Given the description of an element on the screen output the (x, y) to click on. 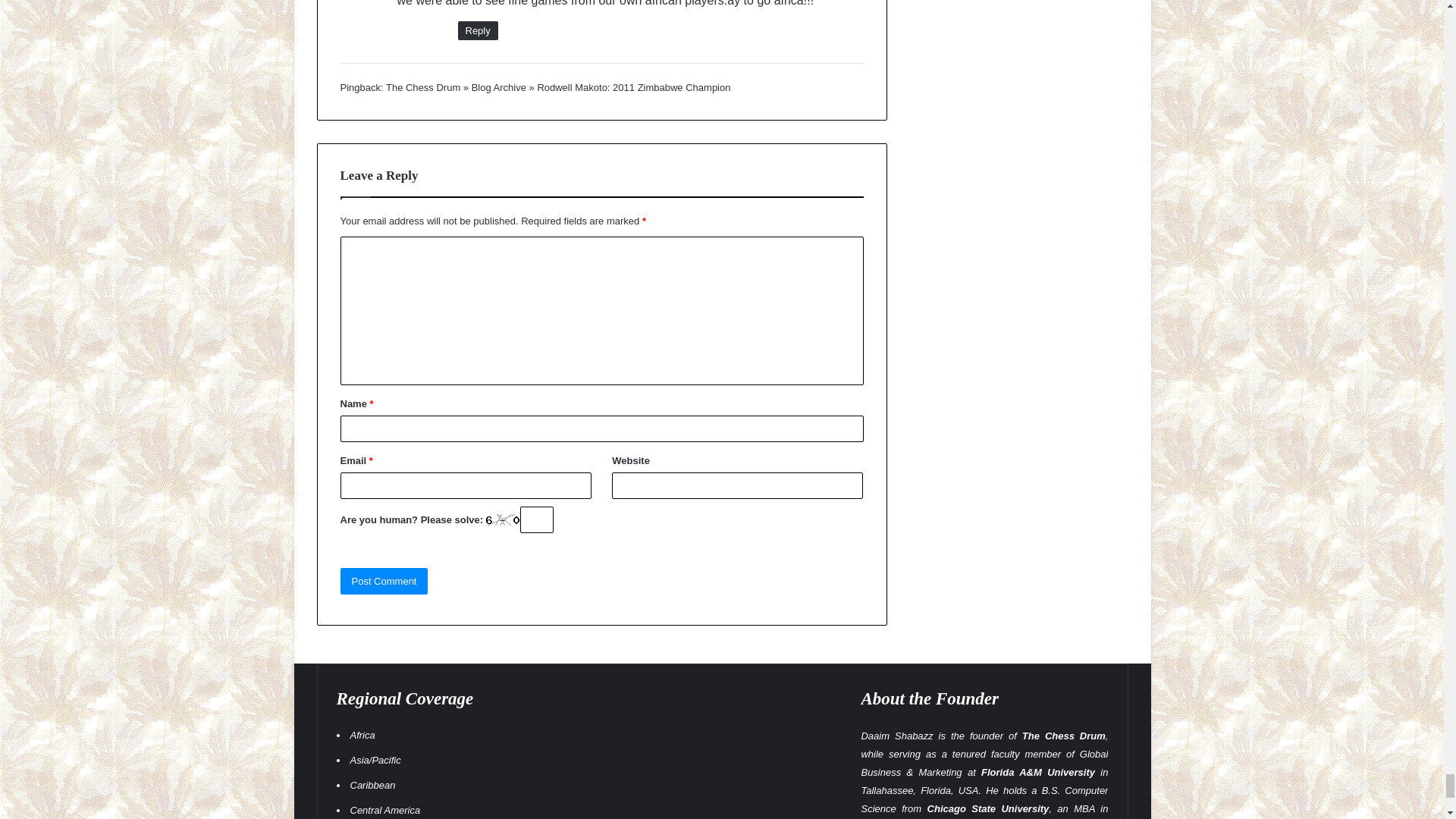
Post Comment (383, 581)
